Given the description of an element on the screen output the (x, y) to click on. 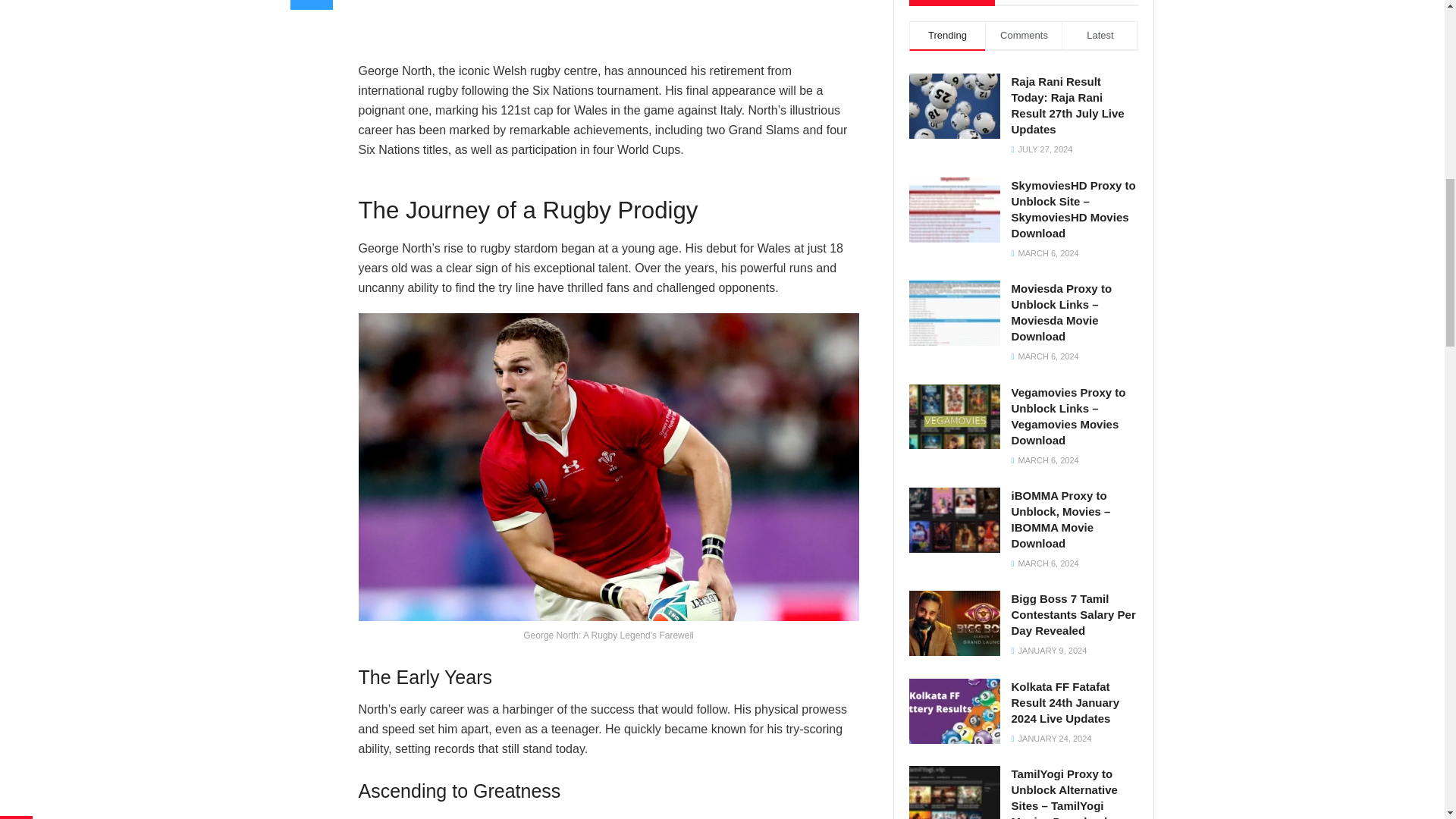
Advertisement (608, 27)
